Given the description of an element on the screen output the (x, y) to click on. 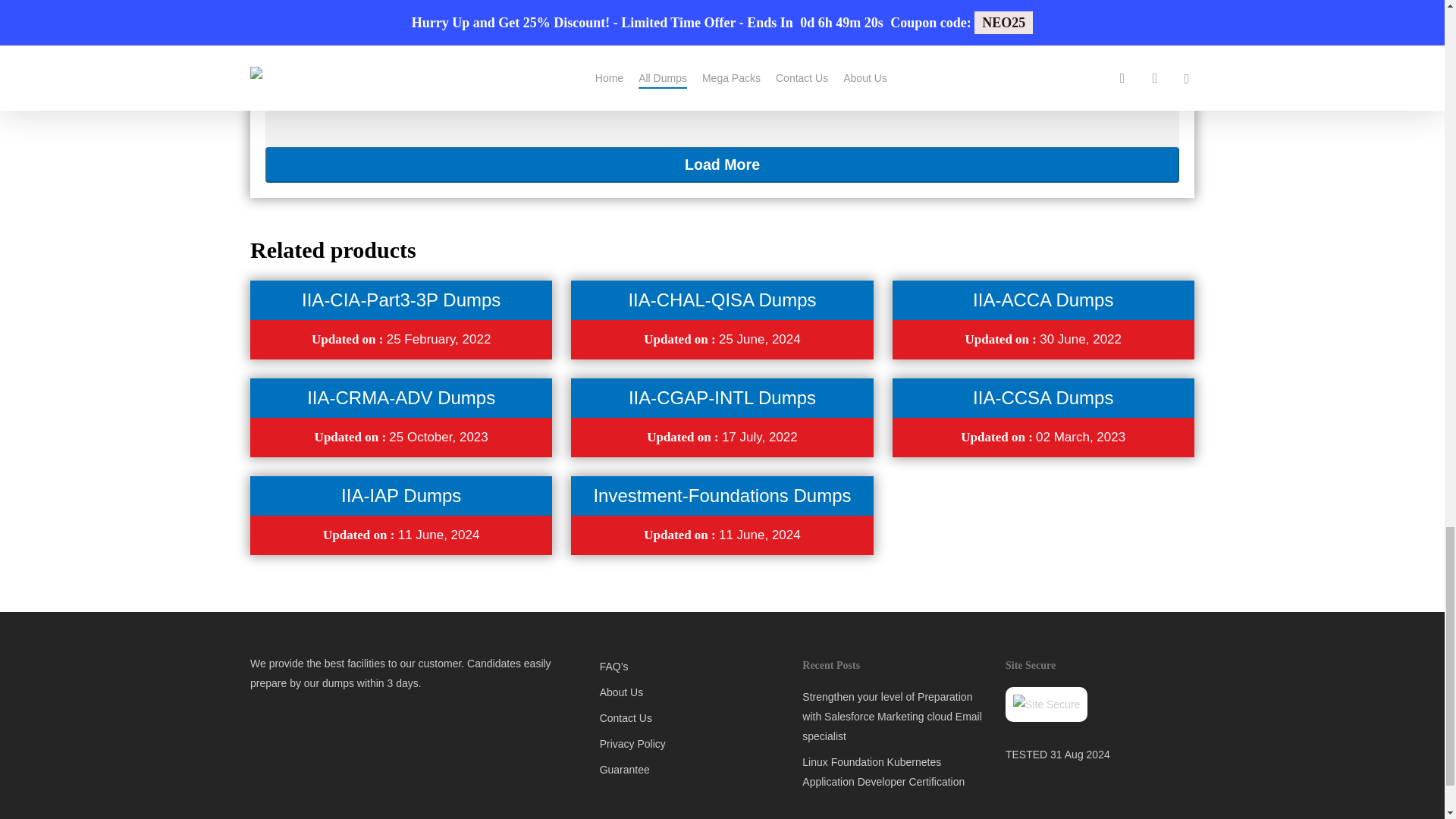
Updated on : 25 June, 2024 (721, 339)
Updated on : 02 March, 2023 (1042, 436)
IIA-CRMA-ADV Dumps (401, 397)
IIA-CCSA Dumps (1042, 397)
Updated on : 25 February, 2022 (400, 339)
IIA-CGAP-INTL Dumps (721, 397)
Contact Us (691, 718)
Updated on : 11 June, 2024 (401, 534)
IIA-CHAL-QISA Dumps (721, 299)
Load More (721, 164)
